Given the description of an element on the screen output the (x, y) to click on. 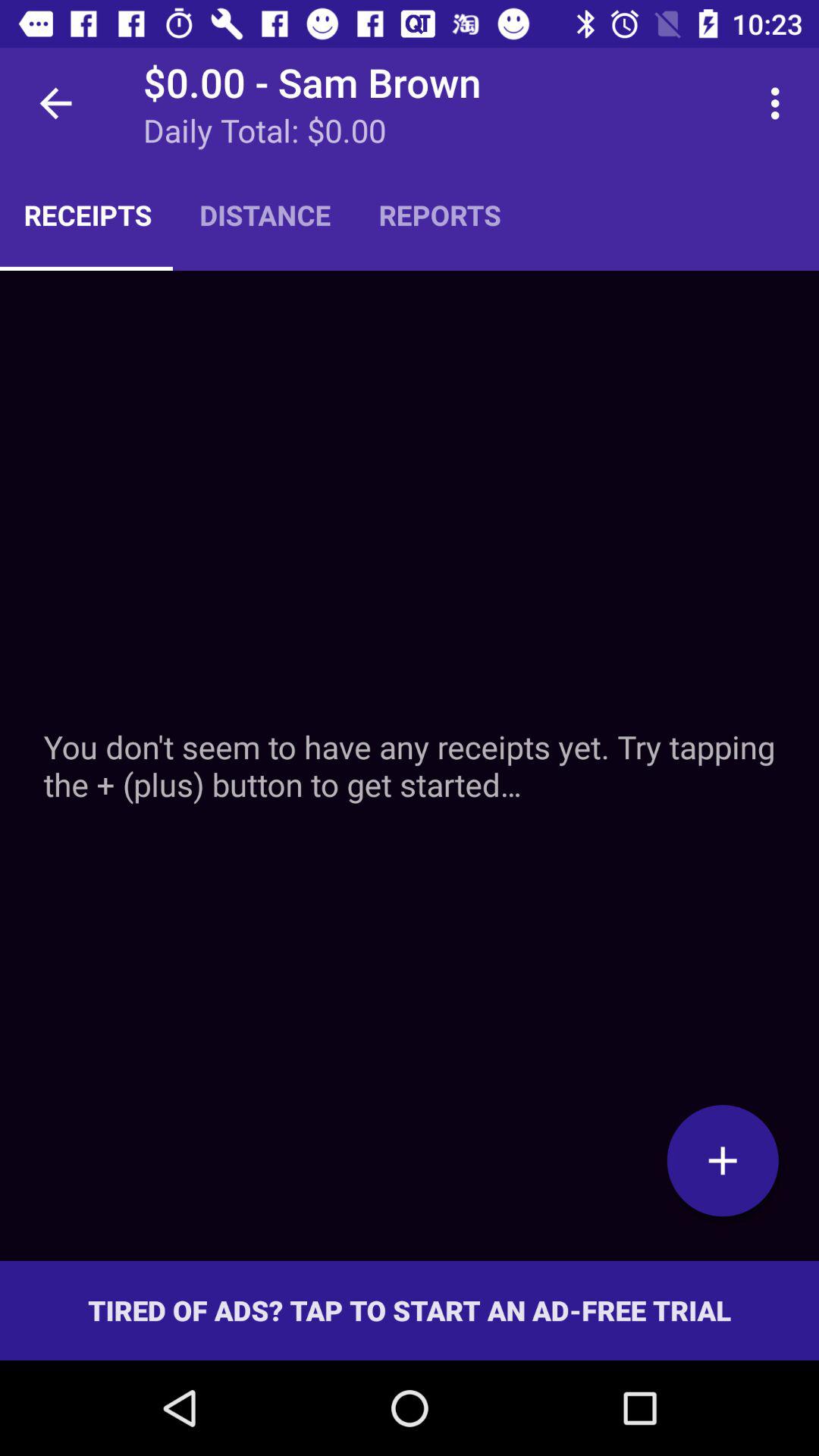
press the item above tired of ads icon (722, 1160)
